Given the description of an element on the screen output the (x, y) to click on. 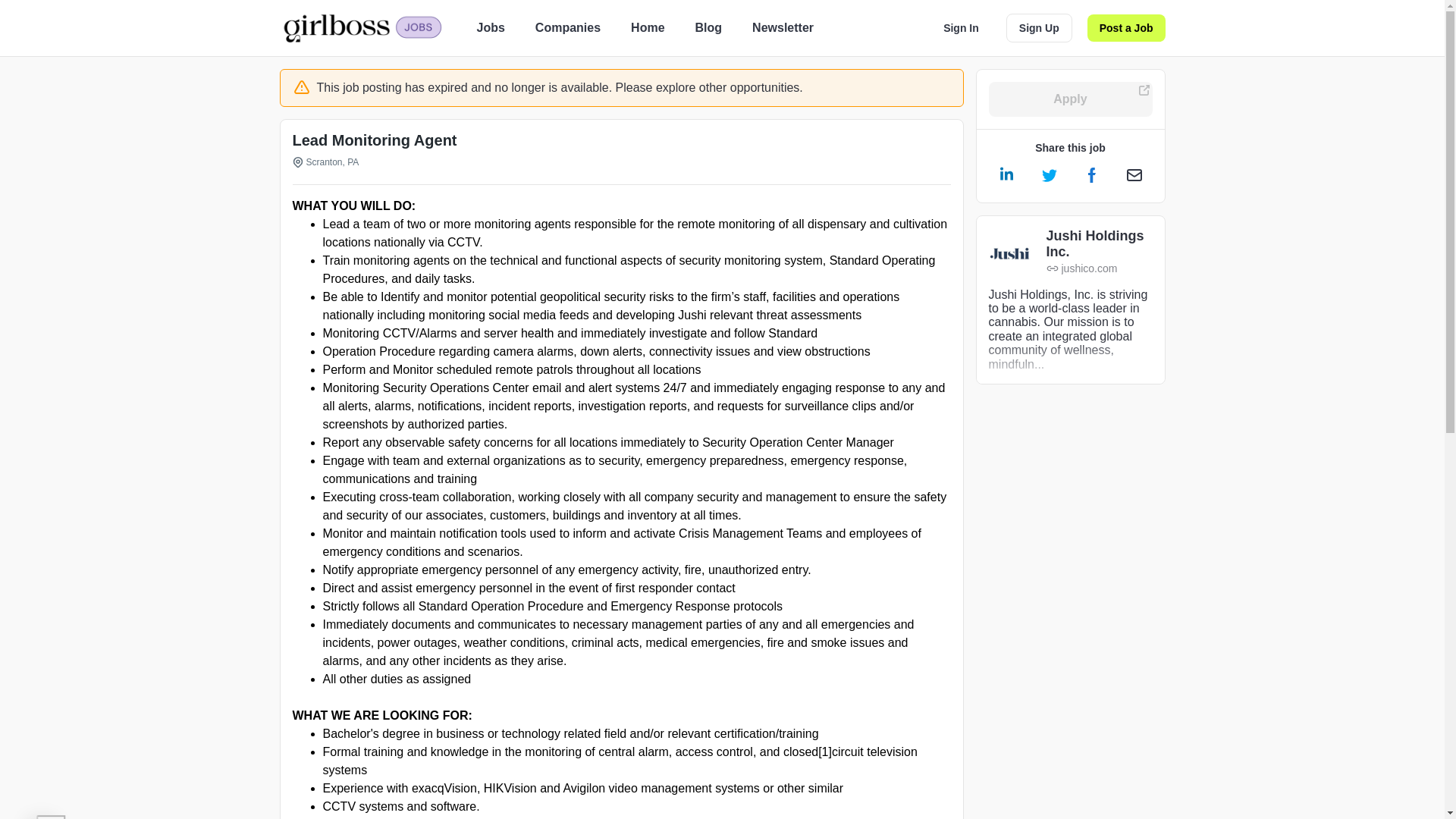
Apply (1070, 99)
Jobs (489, 27)
Newsletter (782, 27)
Sign Up (1038, 27)
Home (646, 27)
Post a Job (1126, 27)
Jushi Holdings Inc. (1099, 243)
Companies (567, 27)
jushico.com (1099, 268)
Blog (708, 27)
Sign In (961, 27)
